Given the description of an element on the screen output the (x, y) to click on. 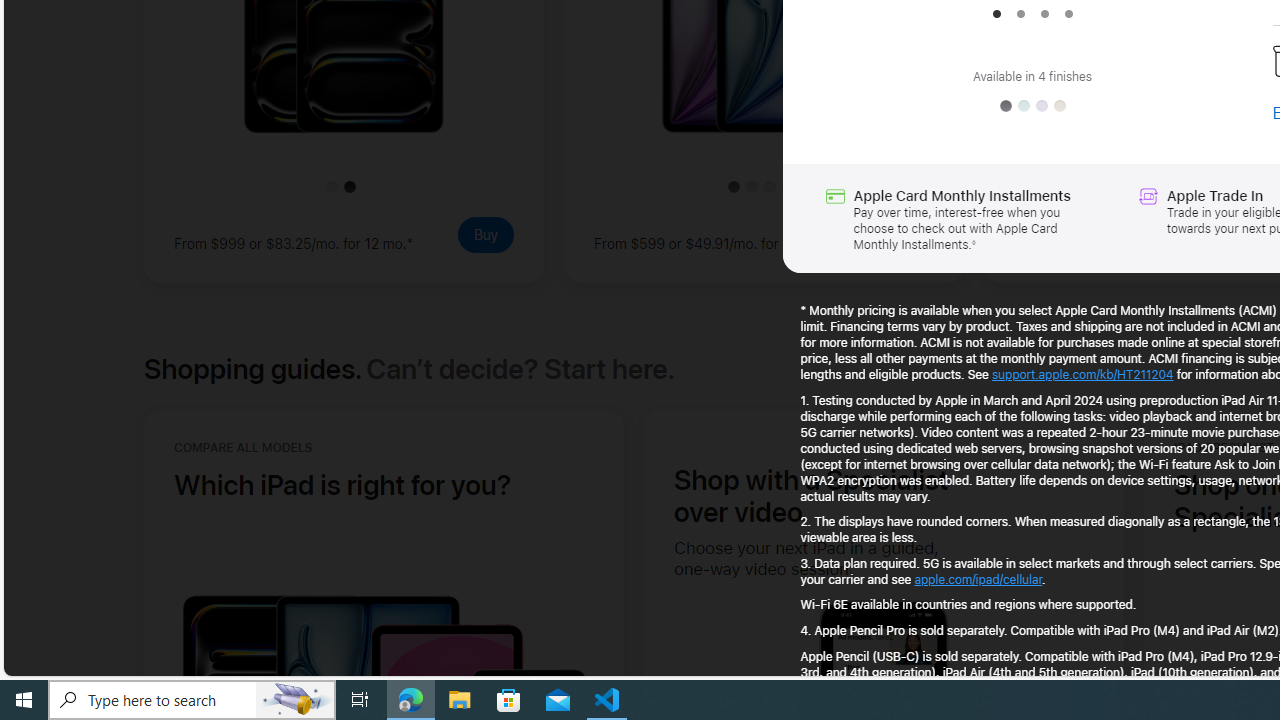
Space Gray (1005, 106)
apple.com/ipad/cellular (978, 578)
Blue (1023, 106)
Starlight (1059, 106)
Item 1 (996, 14)
Blue (1023, 106)
Item 2 (1020, 14)
Space Gray (1005, 106)
Starlight (1059, 106)
support.apple.com/kb/HT211204 (Opens in a new window) (1081, 374)
Item 3 (1044, 14)
Item 4 (1067, 14)
Purple (1041, 106)
Purple (1041, 106)
